Given the description of an element on the screen output the (x, y) to click on. 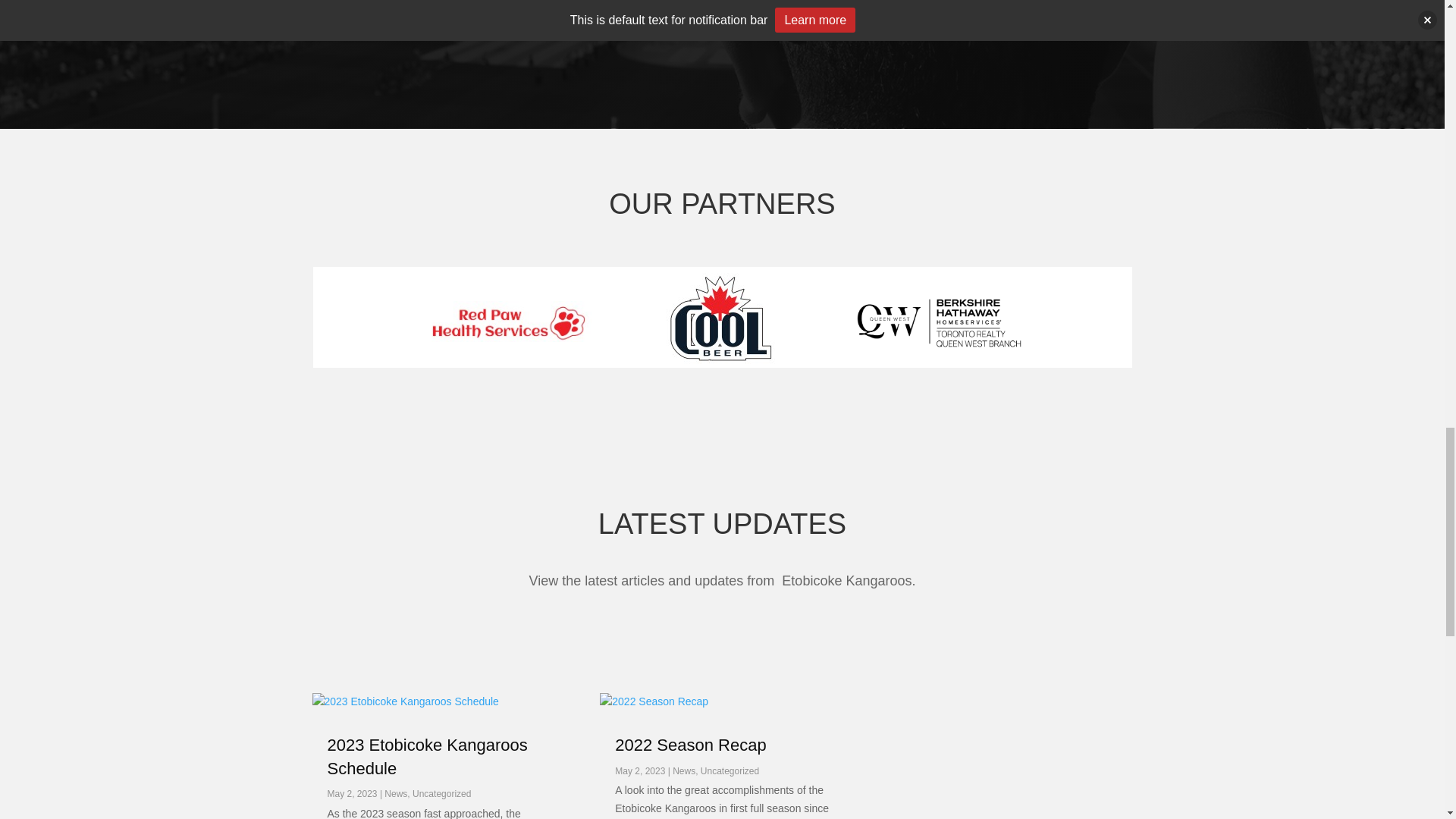
News (395, 793)
News (683, 770)
support-footy (505, 8)
2022 Season Recap (689, 744)
Uncategorized (729, 770)
2023 Etobicoke Kangaroos Schedule (427, 756)
Uncategorized (441, 793)
